Given the description of an element on the screen output the (x, y) to click on. 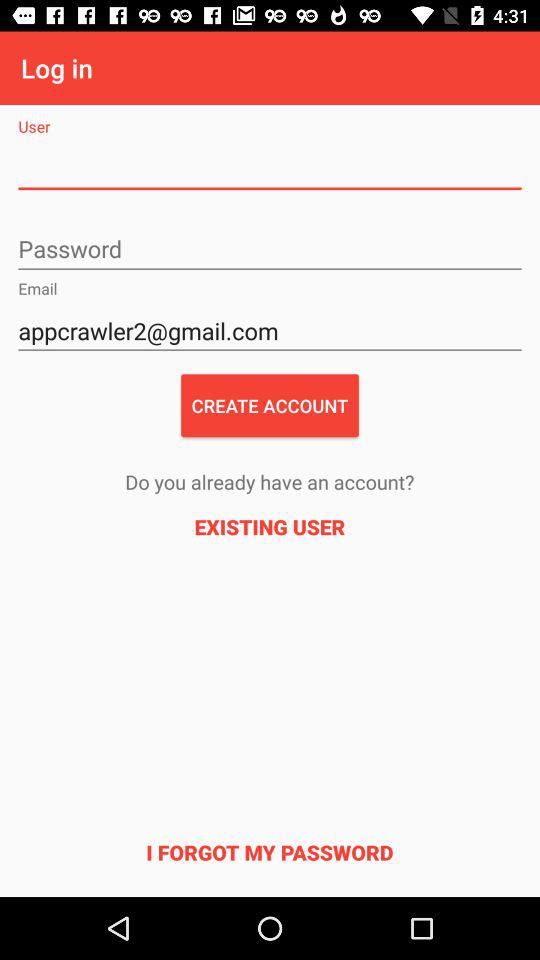
enter password (269, 250)
